Given the description of an element on the screen output the (x, y) to click on. 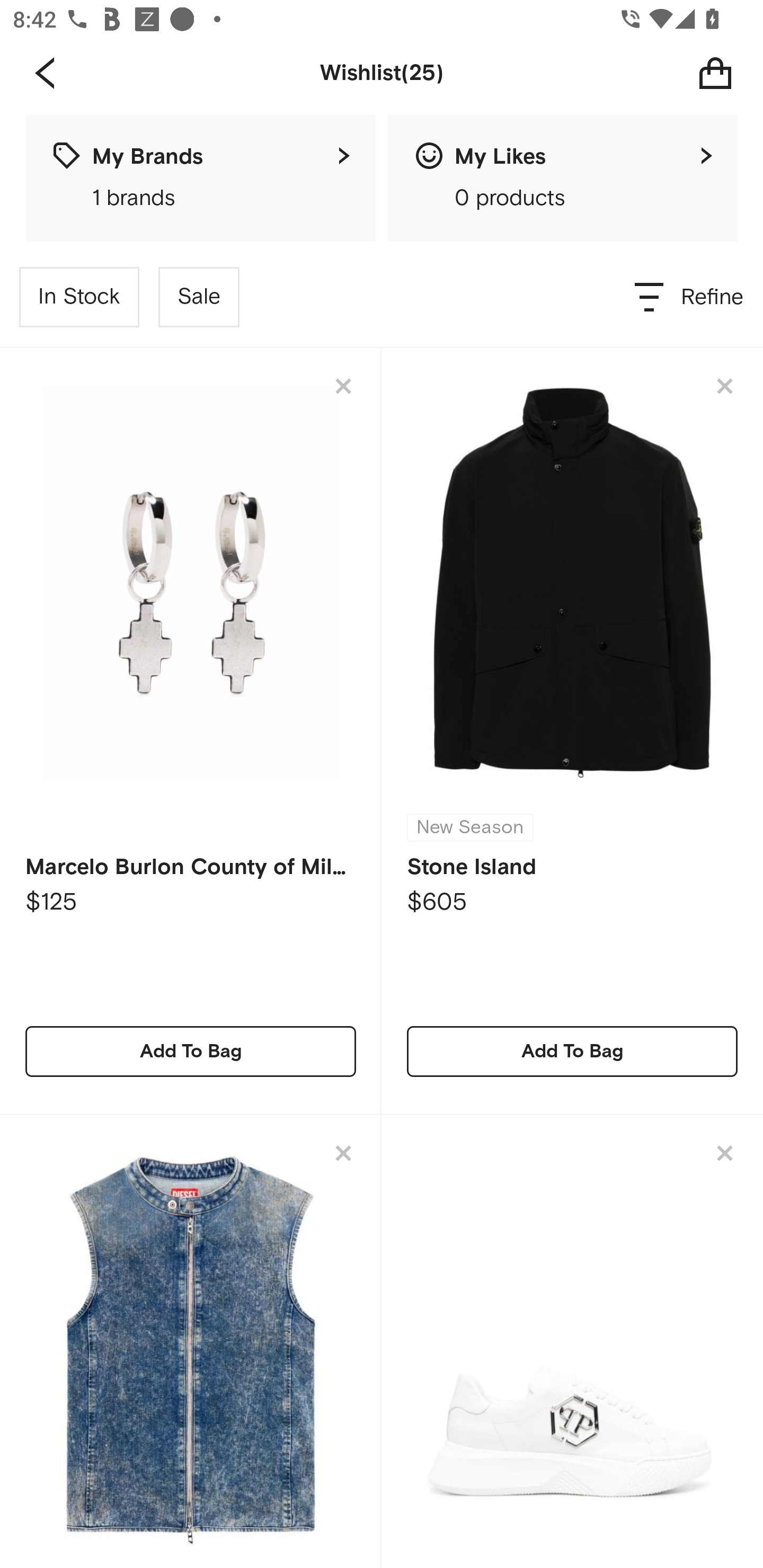
My Brands 1 brands (200, 177)
My Likes 0 products (562, 177)
In Stock (79, 296)
Sale (198, 296)
Refine (690, 296)
Marcelo Burlon County of Milan $125 Add To Bag (190, 731)
New Season Stone Island $605 Add To Bag (572, 731)
Add To Bag (190, 1050)
Add To Bag (571, 1050)
